Given the description of an element on the screen output the (x, y) to click on. 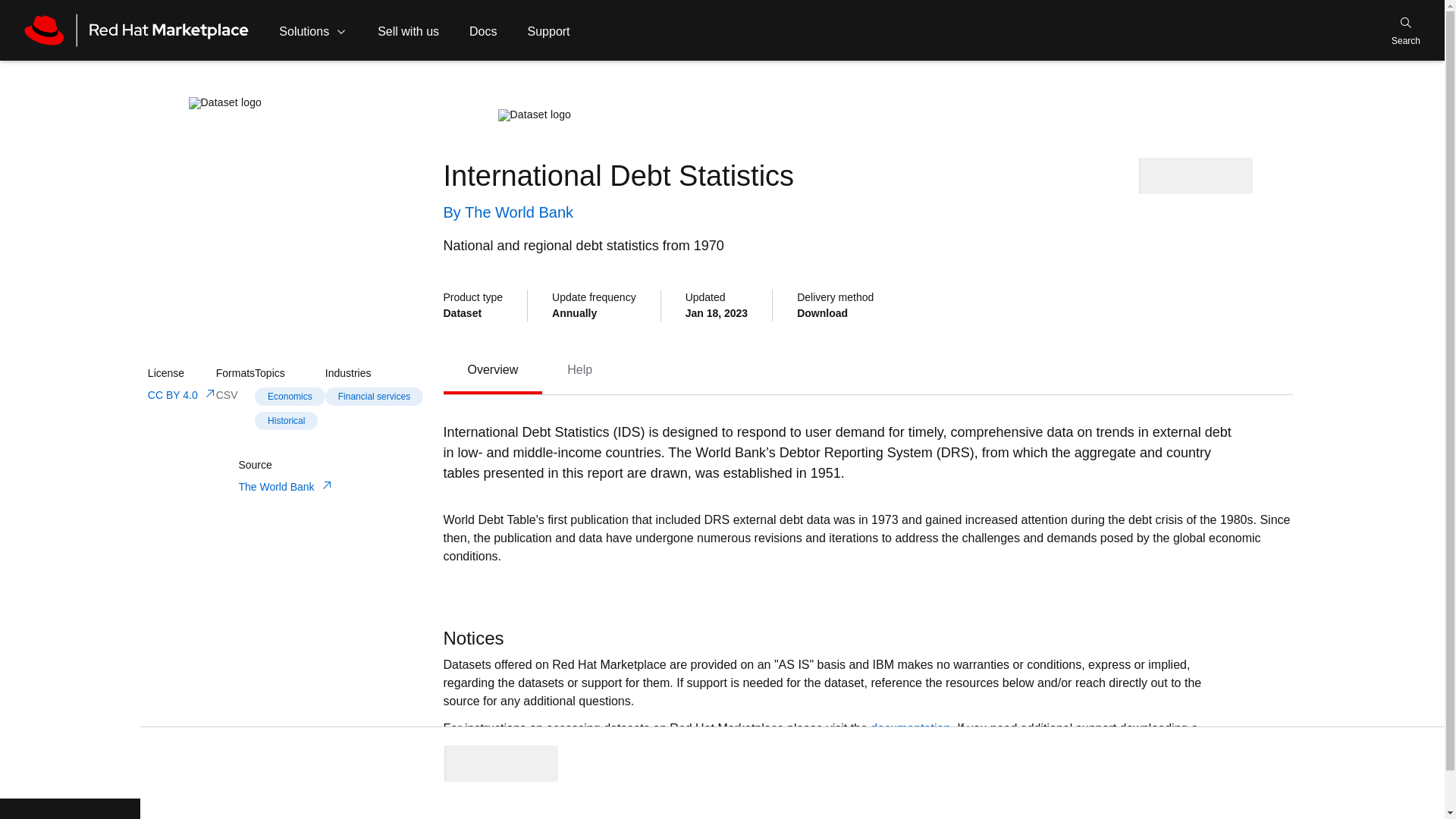
Economics (289, 397)
Overview (491, 369)
Historical (289, 422)
Help (579, 369)
Overview (491, 369)
Financial services (373, 397)
Search (1405, 30)
Red Hat Marketplace Dataset FAQ (665, 746)
Docs (867, 369)
Financial services (483, 30)
Solutions (373, 396)
Economics (312, 30)
Help (289, 396)
documentation (579, 369)
